Given the description of an element on the screen output the (x, y) to click on. 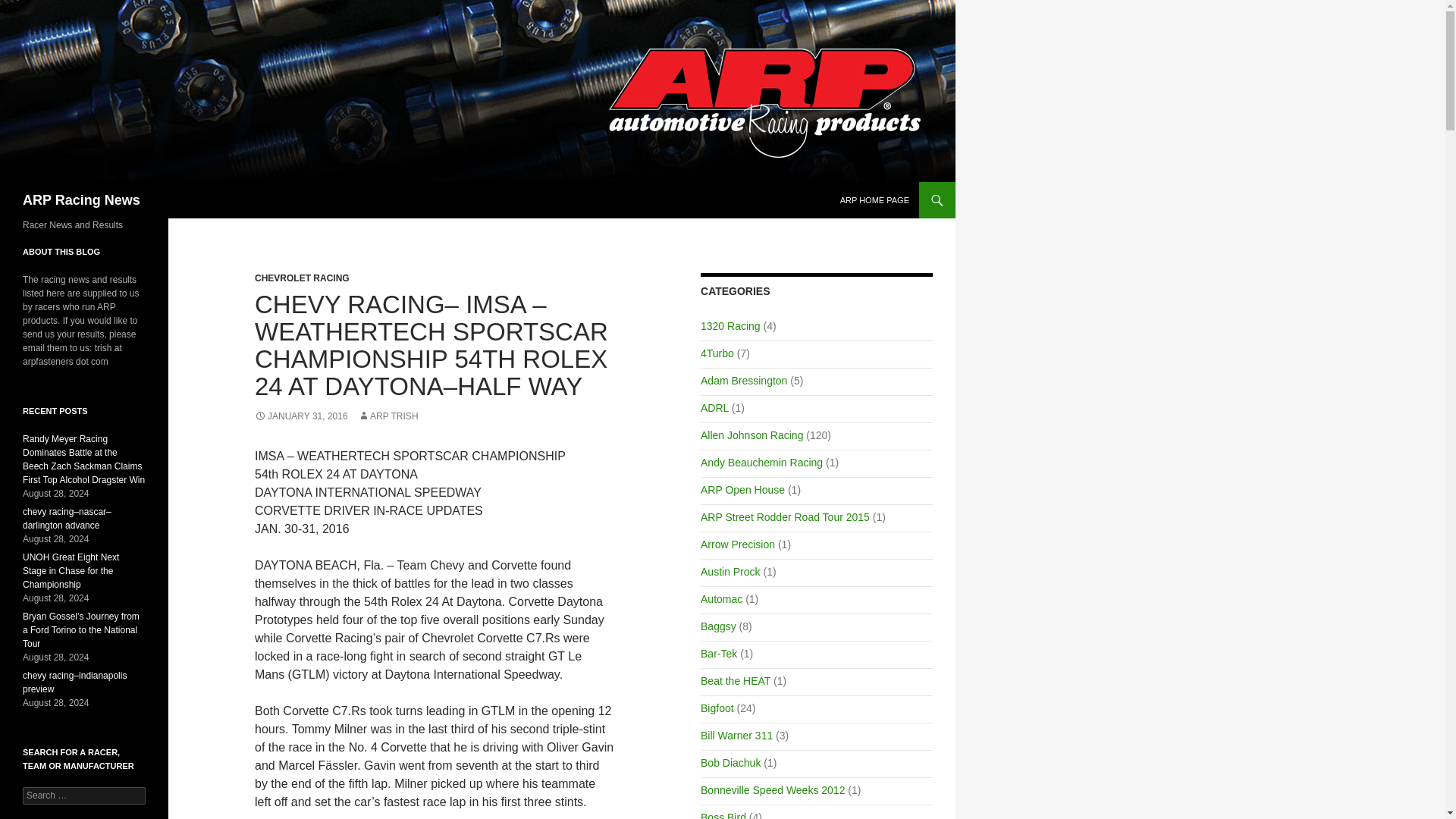
Beat the HEAT (735, 680)
Arrow Precision (737, 544)
JANUARY 31, 2016 (300, 416)
Bar-Tek (718, 653)
ADRL (714, 408)
ARP HOME PAGE (874, 199)
Andy Beauchemin Racing (761, 462)
ARP Open House (742, 490)
Adam Bressington (743, 380)
